Given the description of an element on the screen output the (x, y) to click on. 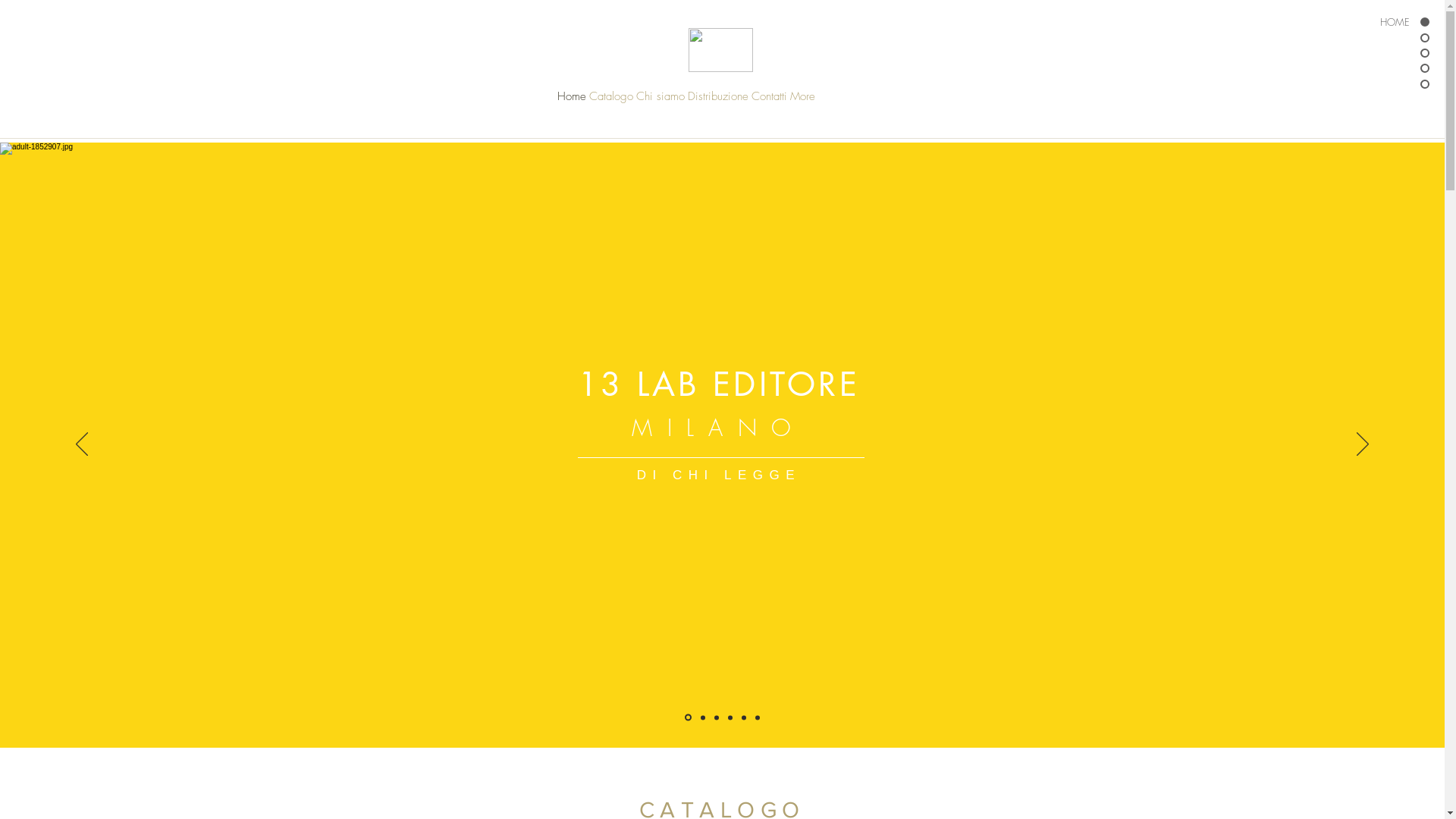
Home Element type: text (570, 100)
HOME Element type: text (1380, 21)
Distribuzione Element type: text (717, 100)
Contatti Element type: text (768, 100)
Chi siamo Element type: text (659, 100)
Catalogo Element type: text (610, 100)
